Given the description of an element on the screen output the (x, y) to click on. 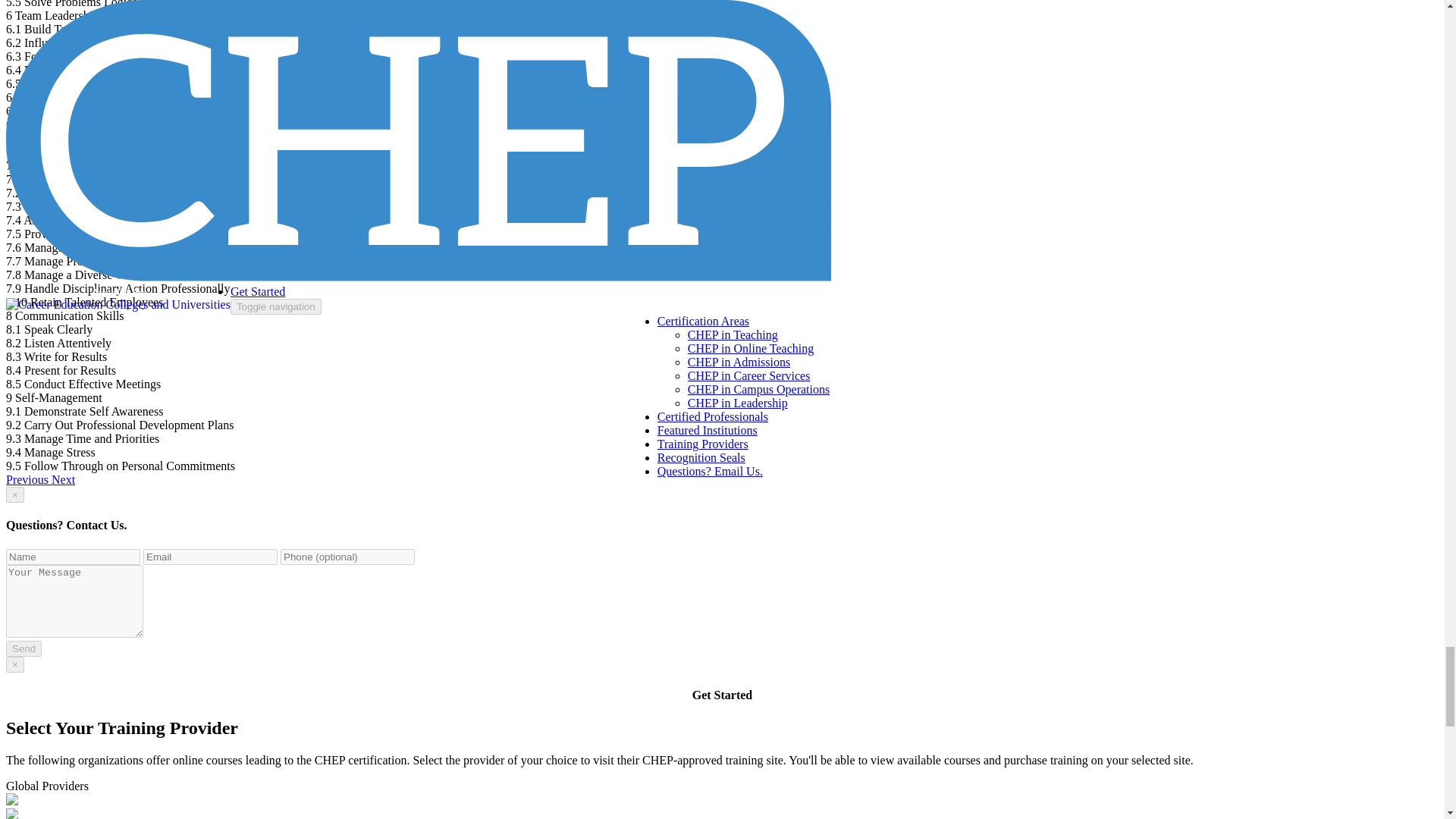
Send (23, 648)
Previous (27, 479)
Next (62, 479)
